Given the description of an element on the screen output the (x, y) to click on. 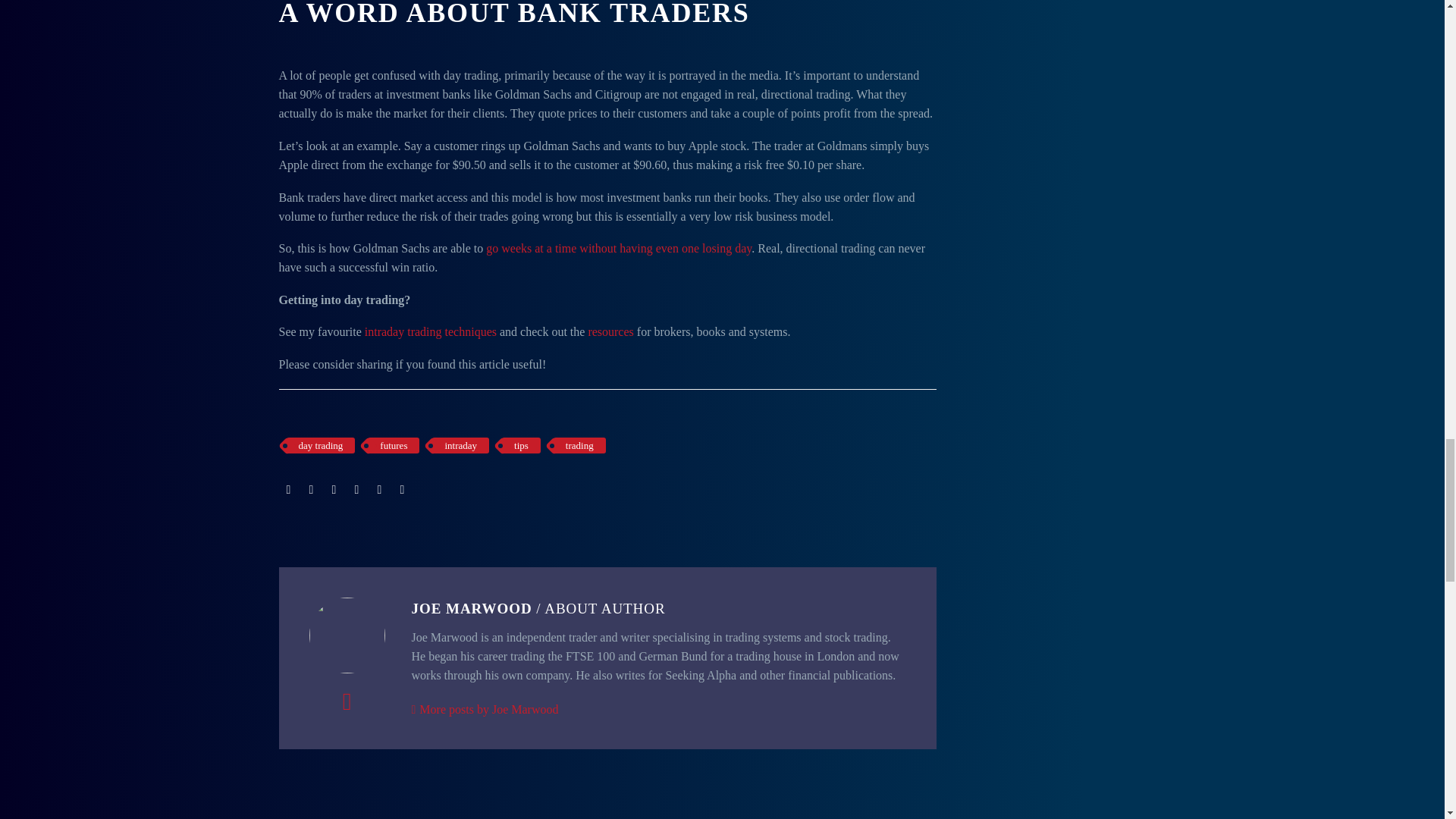
intraday (460, 445)
day trading (320, 445)
trading (579, 445)
My 4 Best Intraday Trading Techniques (430, 331)
futures (393, 445)
Facebook (288, 490)
resources (610, 331)
intraday trading techniques (430, 331)
tips (521, 445)
go weeks at a time without having even one losing day (618, 247)
Resources (610, 331)
